Given the description of an element on the screen output the (x, y) to click on. 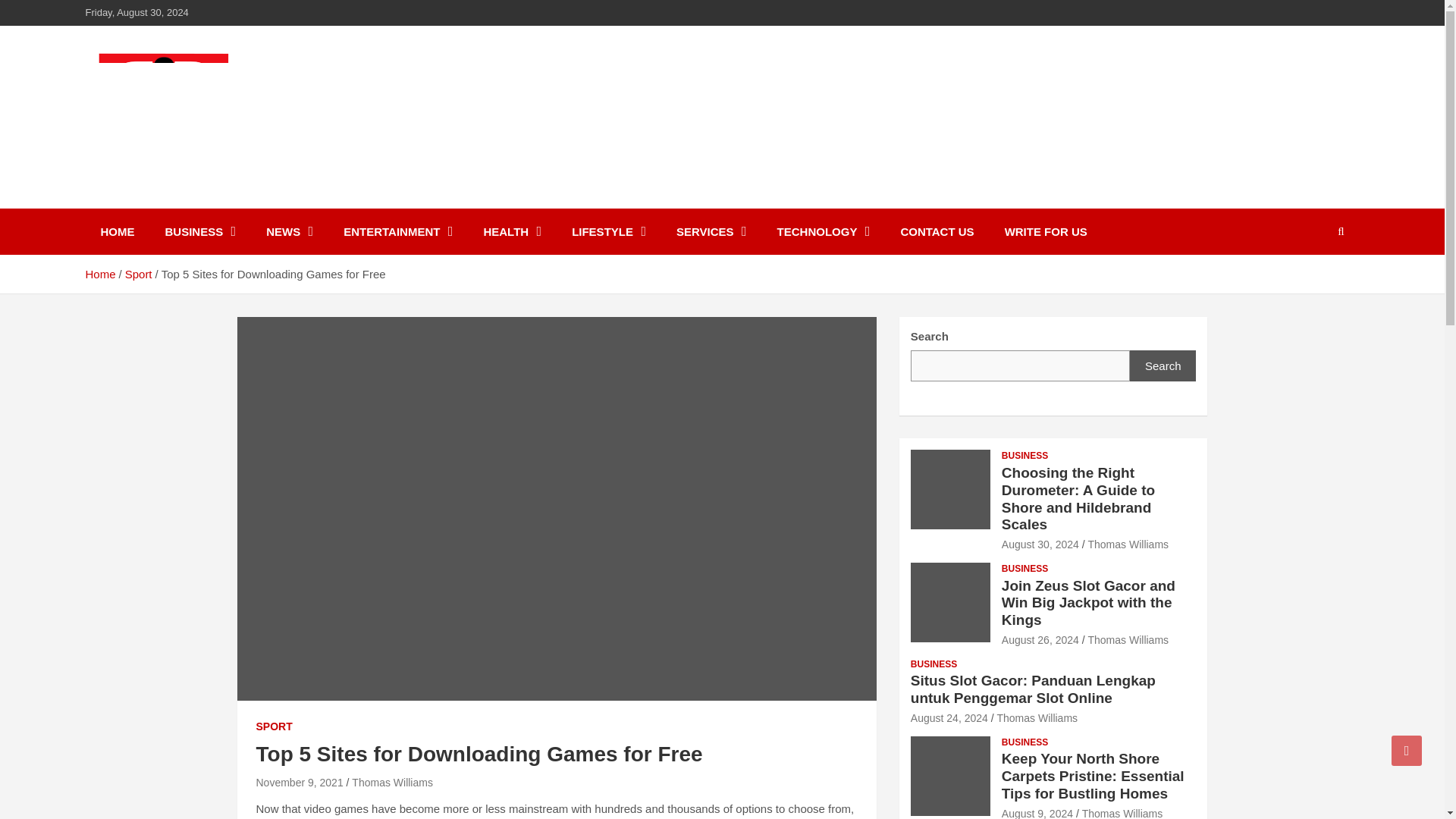
HEALTH (511, 231)
NEWS (289, 231)
LIFESTYLE (608, 231)
Join Zeus Slot Gacor and Win Big Jackpot with the Kings (1039, 639)
TECHNOLOGY (823, 231)
BUSINESS (200, 231)
HOME (116, 231)
Top 5 Sites for Downloading Games for Free (299, 782)
SERVICES (711, 231)
Go to Top (1406, 750)
